Given the description of an element on the screen output the (x, y) to click on. 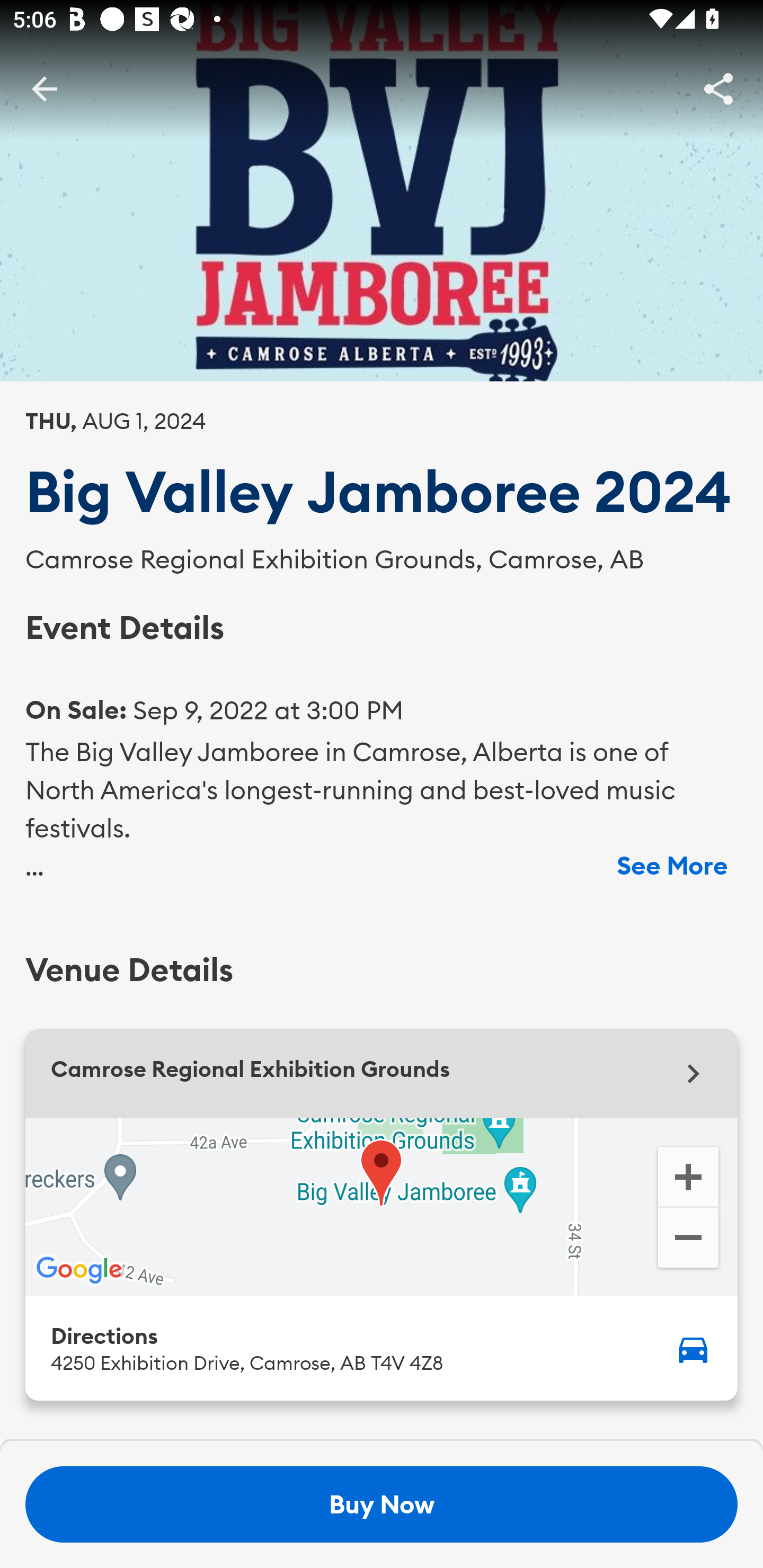
BackButton (44, 88)
Share (718, 88)
See More (671, 865)
Camrose Regional Exhibition Grounds (381, 1072)
Zoom in (687, 1175)
Zoom out (687, 1239)
Buy Now (381, 1504)
